Given the description of an element on the screen output the (x, y) to click on. 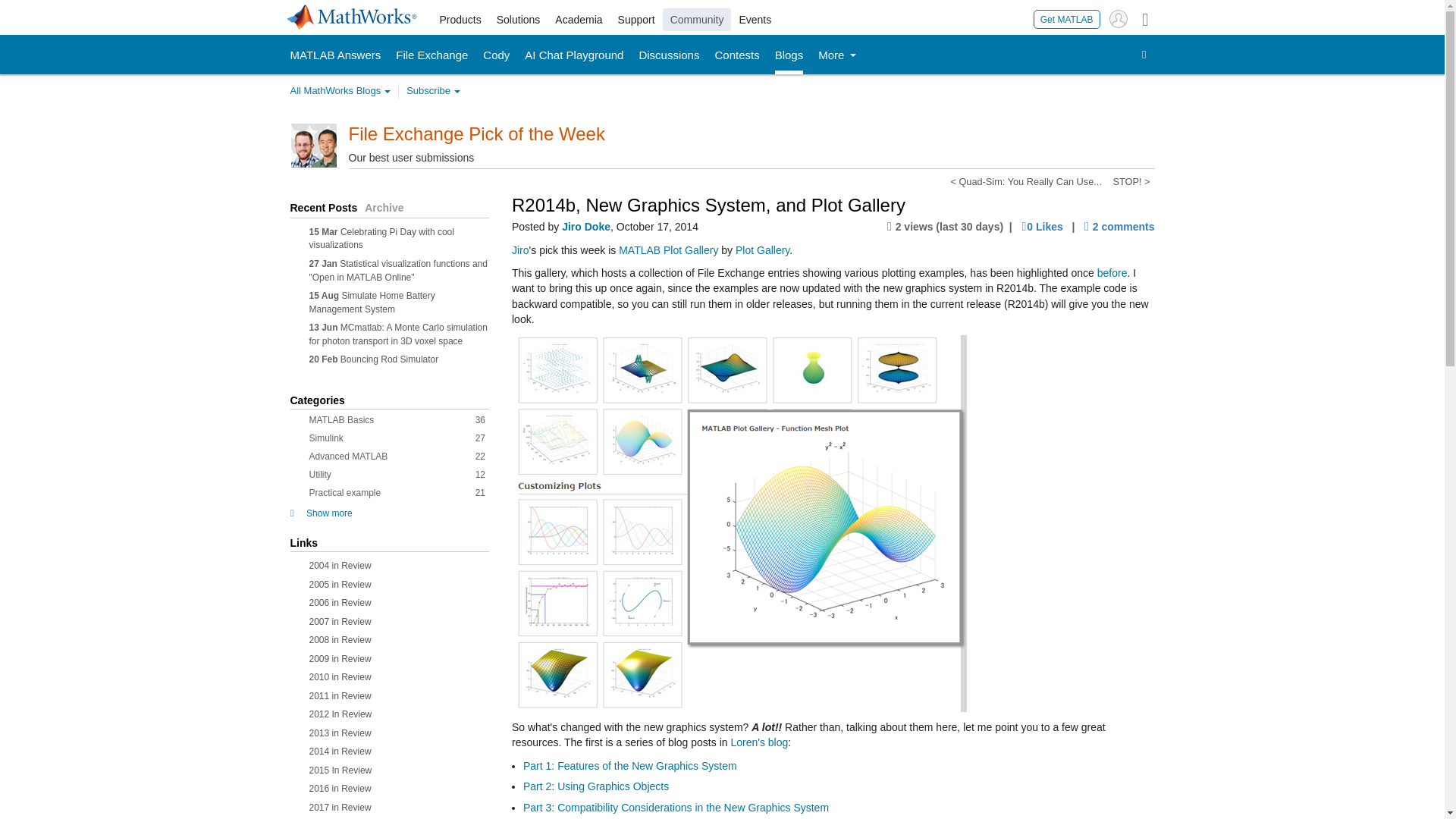
Products (460, 19)
Matrix Menu (1144, 18)
Academia (578, 19)
Get MATLAB (1066, 18)
Community (697, 19)
Support (636, 19)
Events (754, 19)
Solutions (518, 19)
